Given the description of an element on the screen output the (x, y) to click on. 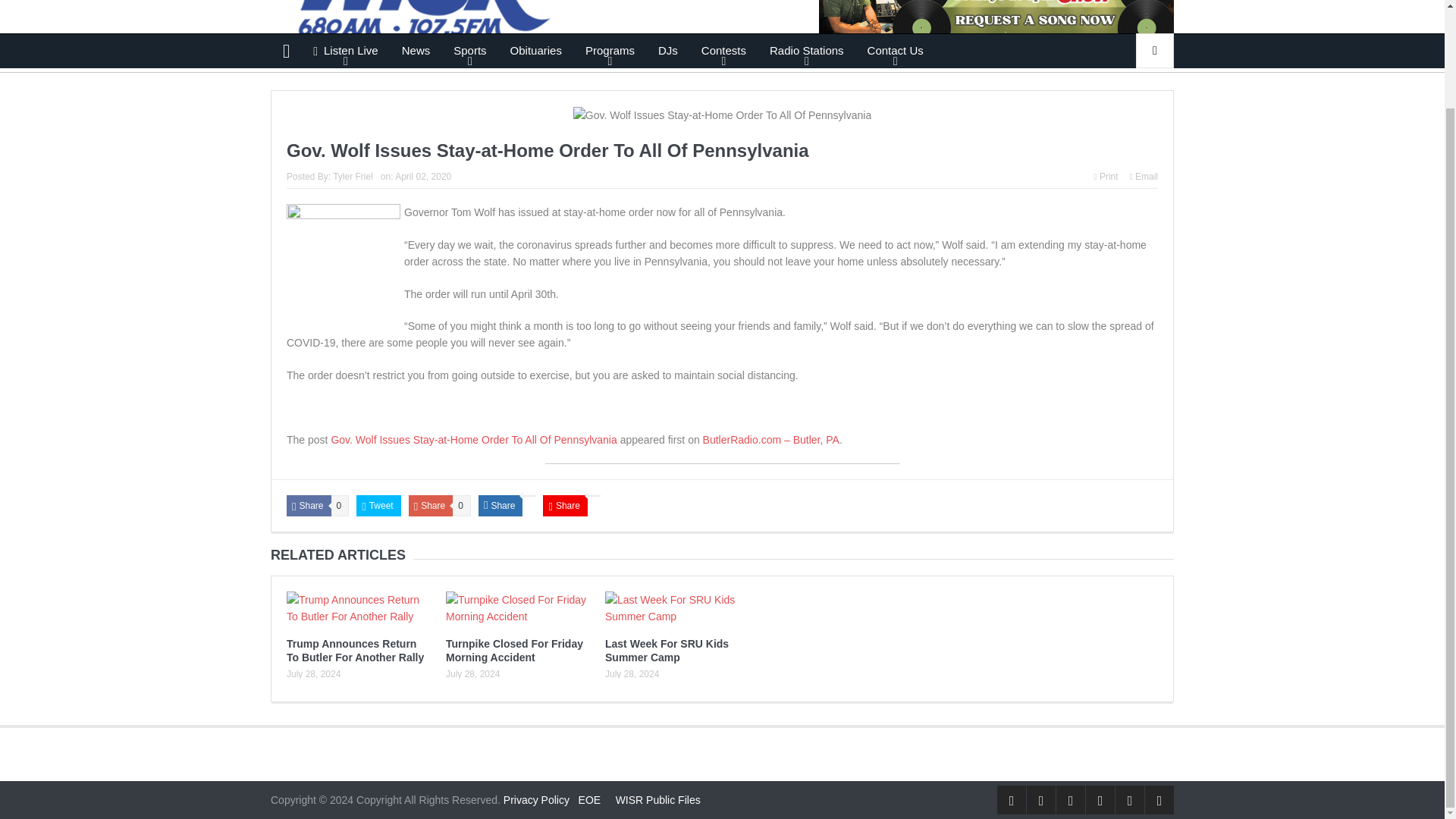
Contests (723, 50)
Programs (609, 50)
DJs (667, 50)
Sports (469, 50)
Radio Stations (807, 50)
Obituaries (536, 50)
Listen Live (345, 50)
News (416, 50)
Contact Us (895, 50)
